Given the description of an element on the screen output the (x, y) to click on. 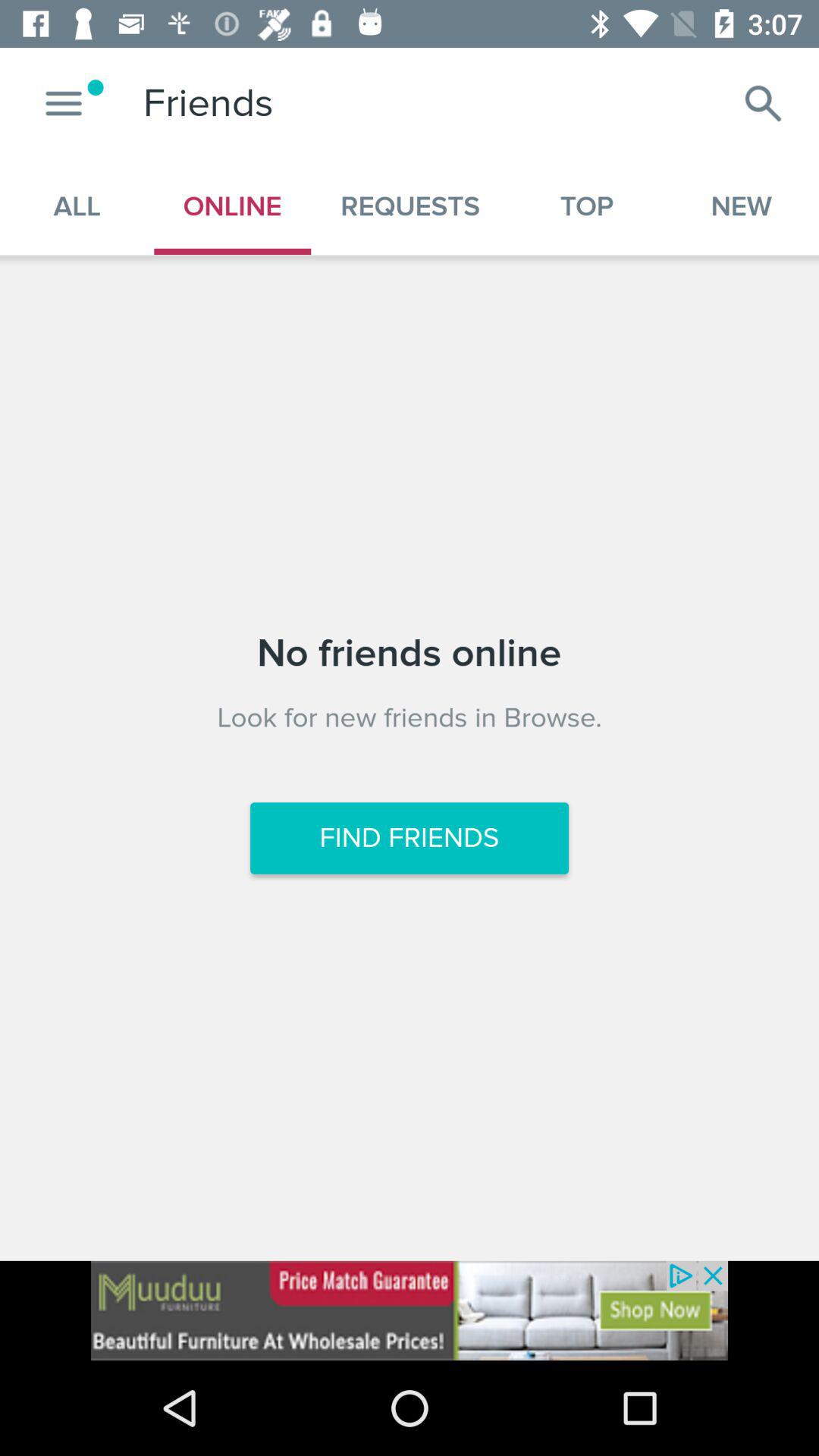
click the advertisement at bottom (409, 1310)
